Given the description of an element on the screen output the (x, y) to click on. 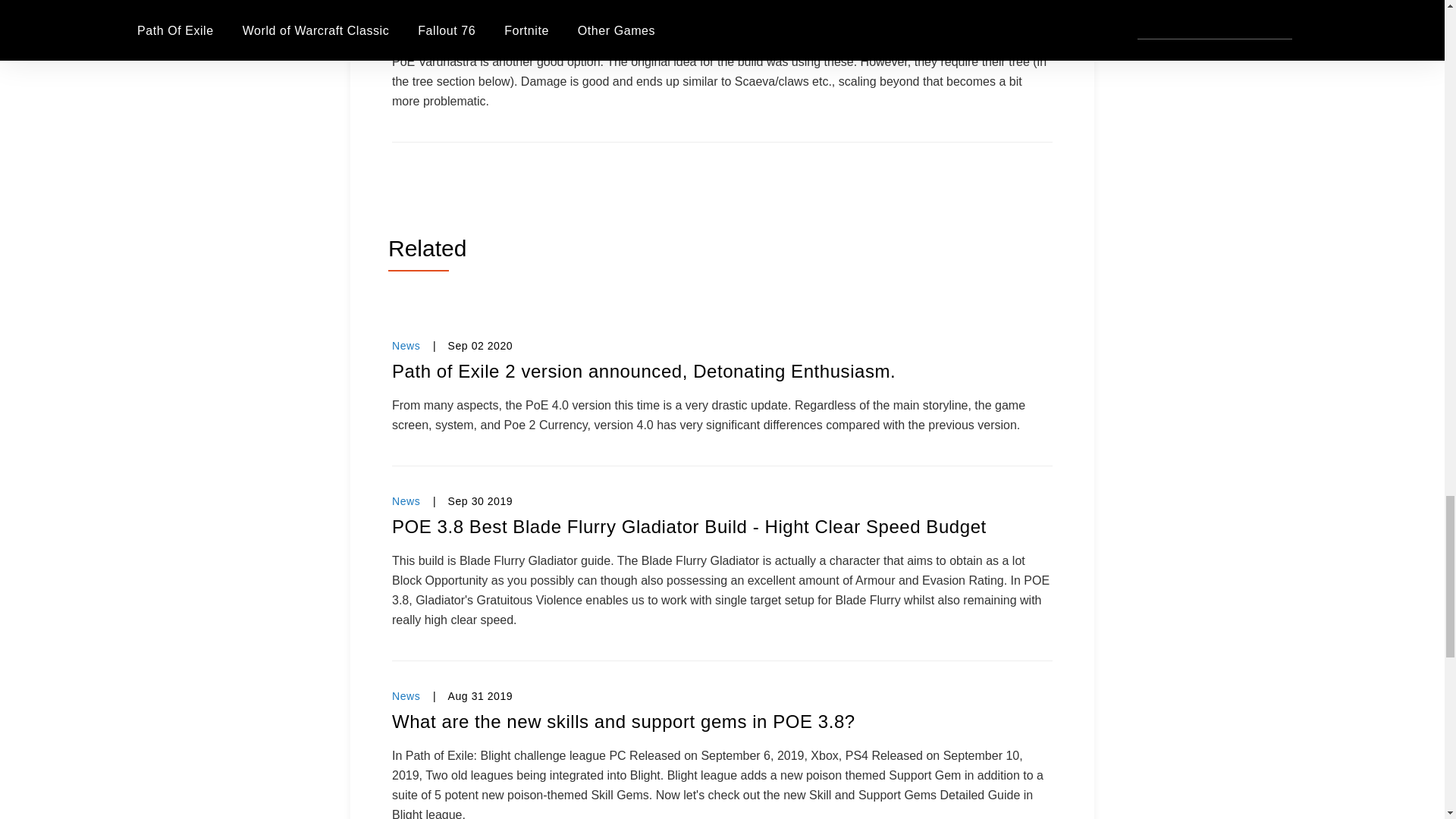
Guides (409, 4)
News (405, 345)
Path of Exile 2 version announced, Detonating Enthusiasm. (721, 371)
News (405, 500)
Poe Unique Weapons Varunastra, Vaal Blade Guides (721, 27)
What are the new skills and support gems in POE 3.8? (721, 721)
News (405, 695)
